Given the description of an element on the screen output the (x, y) to click on. 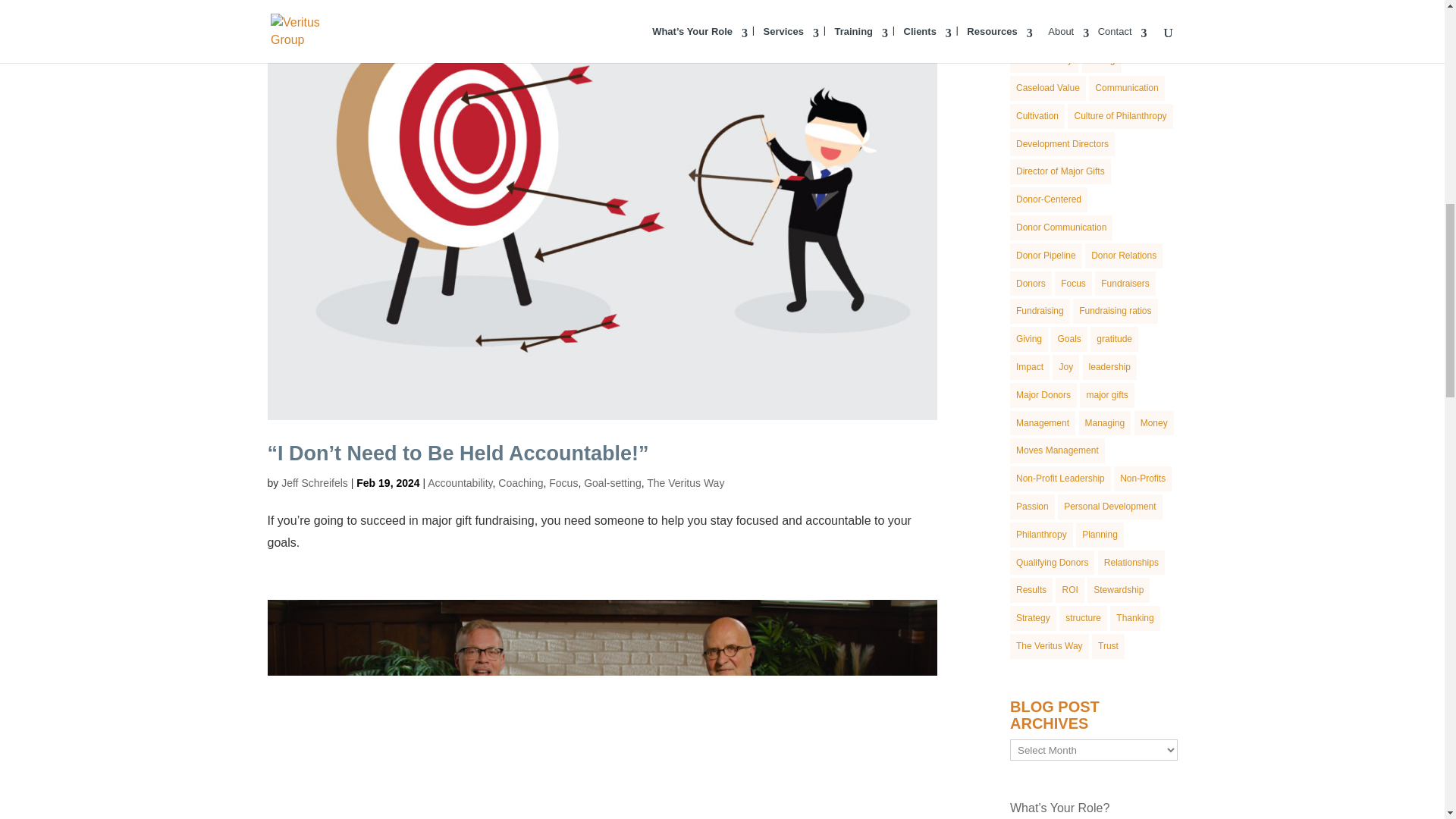
Posts by Jeff Schreifels (314, 482)
